Given the description of an element on the screen output the (x, y) to click on. 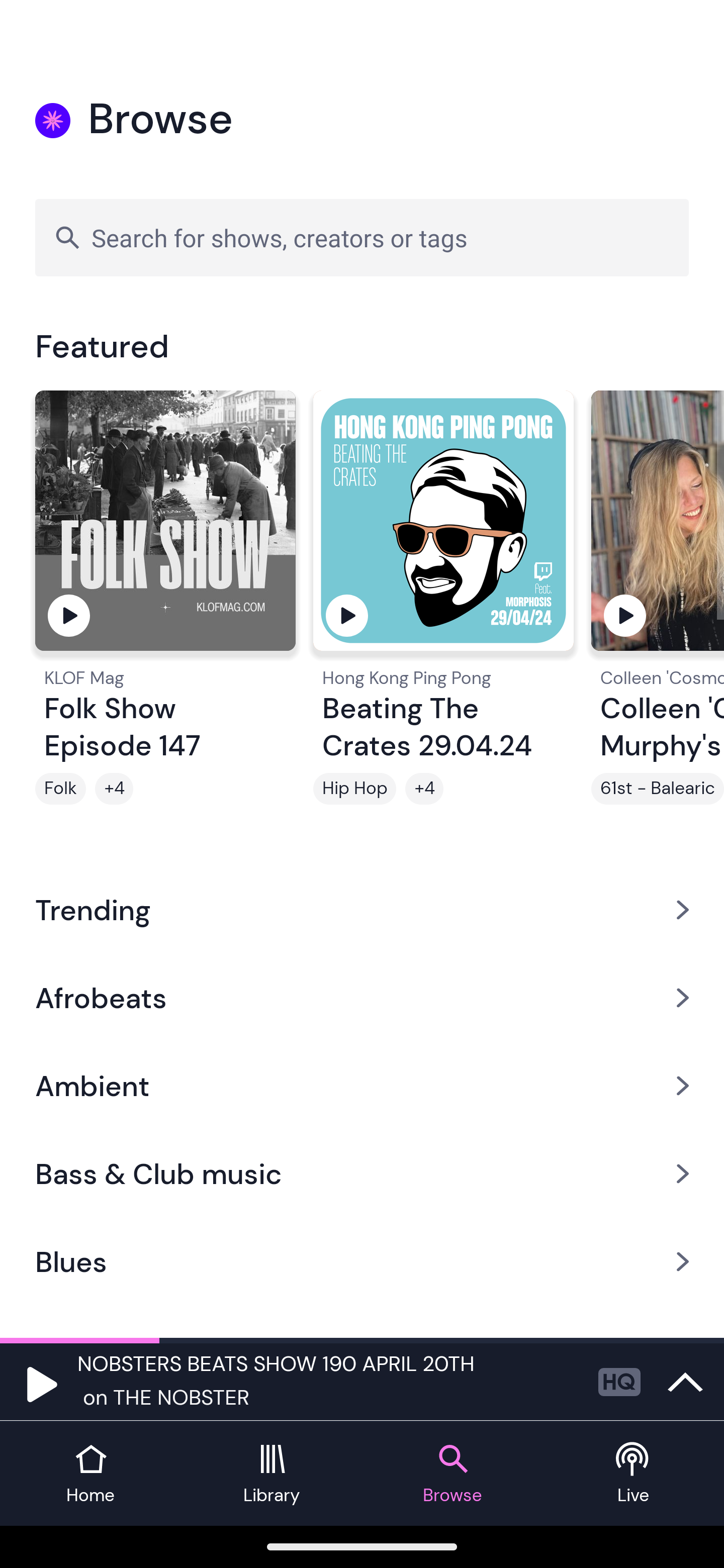
Search for shows, creators or tags (361, 237)
Folk (60, 788)
Hip Hop (354, 788)
61st - Balearic (657, 788)
Trending (361, 909)
Afrobeats (361, 997)
Ambient (361, 1085)
Bass & Club music (361, 1174)
Blues (361, 1262)
Home tab Home (90, 1473)
Library tab Library (271, 1473)
Browse tab Browse (452, 1473)
Live tab Live (633, 1473)
